Given the description of an element on the screen output the (x, y) to click on. 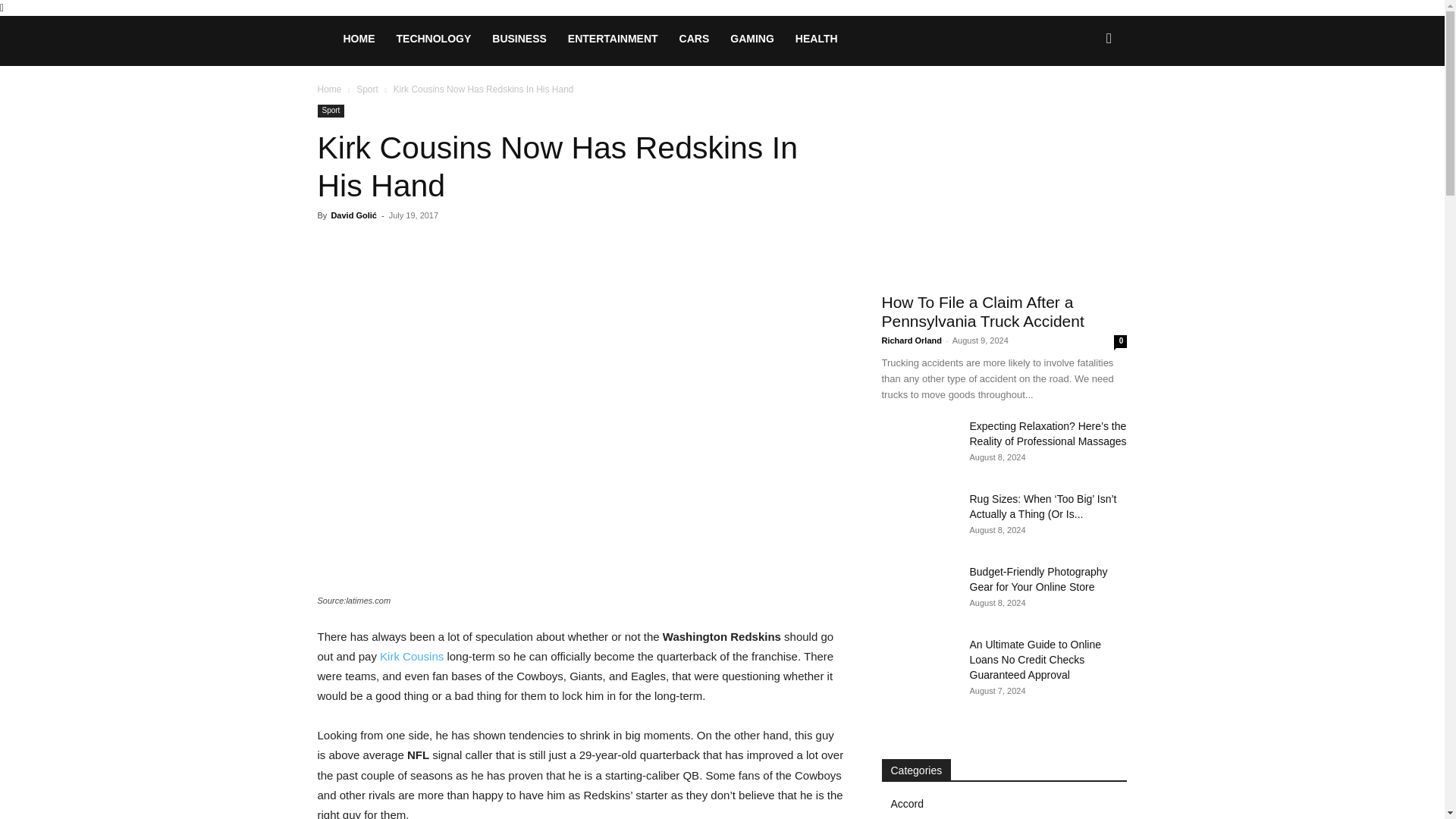
HEALTH (816, 38)
HOME (358, 38)
View all posts in Sport (367, 89)
ENTERTAINMENT (612, 38)
BUSINESS (519, 38)
Home (328, 89)
TECHNOLOGY (433, 38)
Kirk Cousins (412, 656)
Sport (367, 89)
Search (1085, 103)
